Given the description of an element on the screen output the (x, y) to click on. 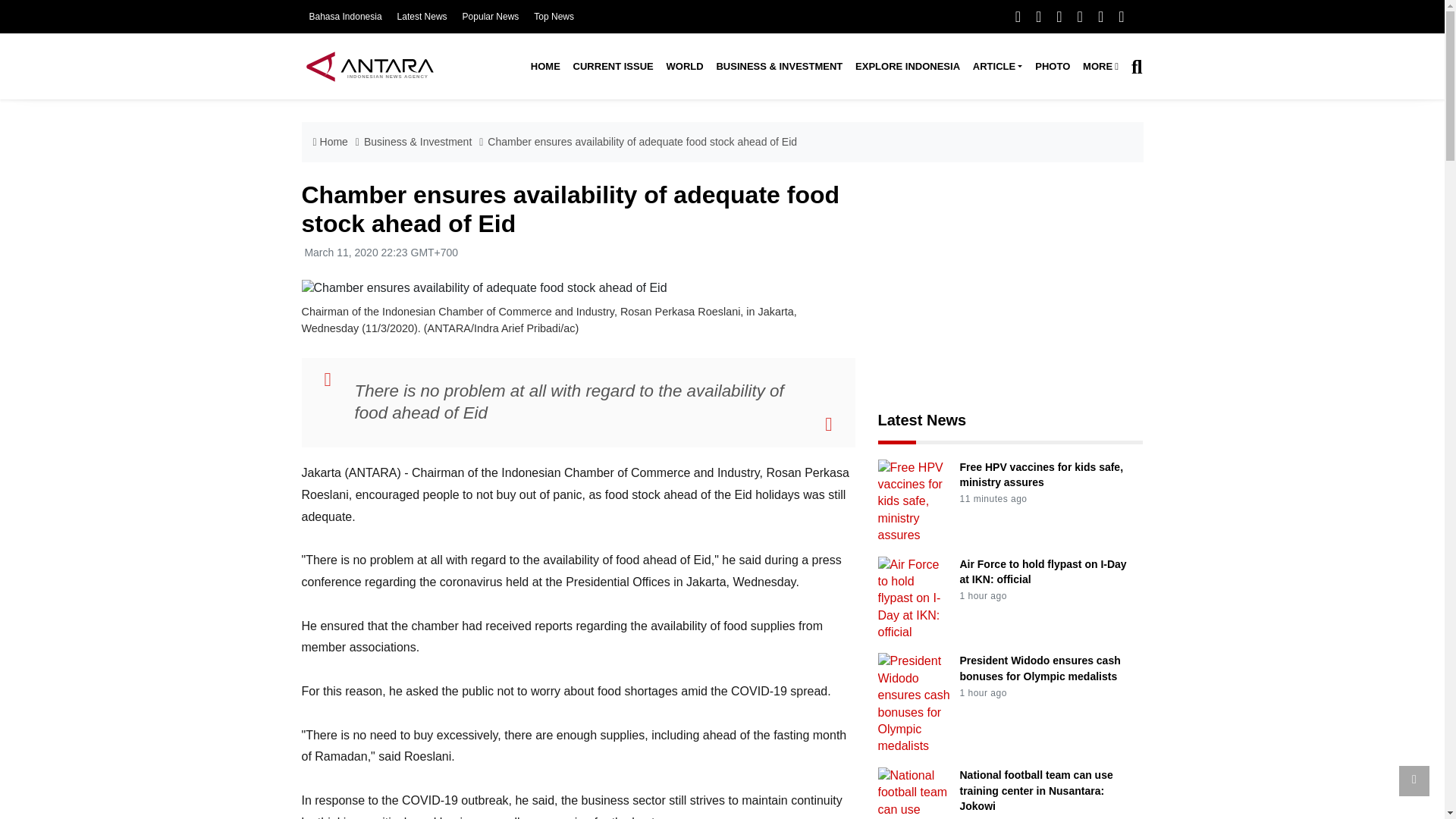
Popular News (491, 16)
Latest News (421, 16)
Current Issue (612, 66)
Article (996, 66)
Bahasa Indonesia (344, 16)
EXPLORE INDONESIA (907, 66)
Top News (553, 16)
Bahasa Indonesia (344, 16)
Latest News (421, 16)
